Given the description of an element on the screen output the (x, y) to click on. 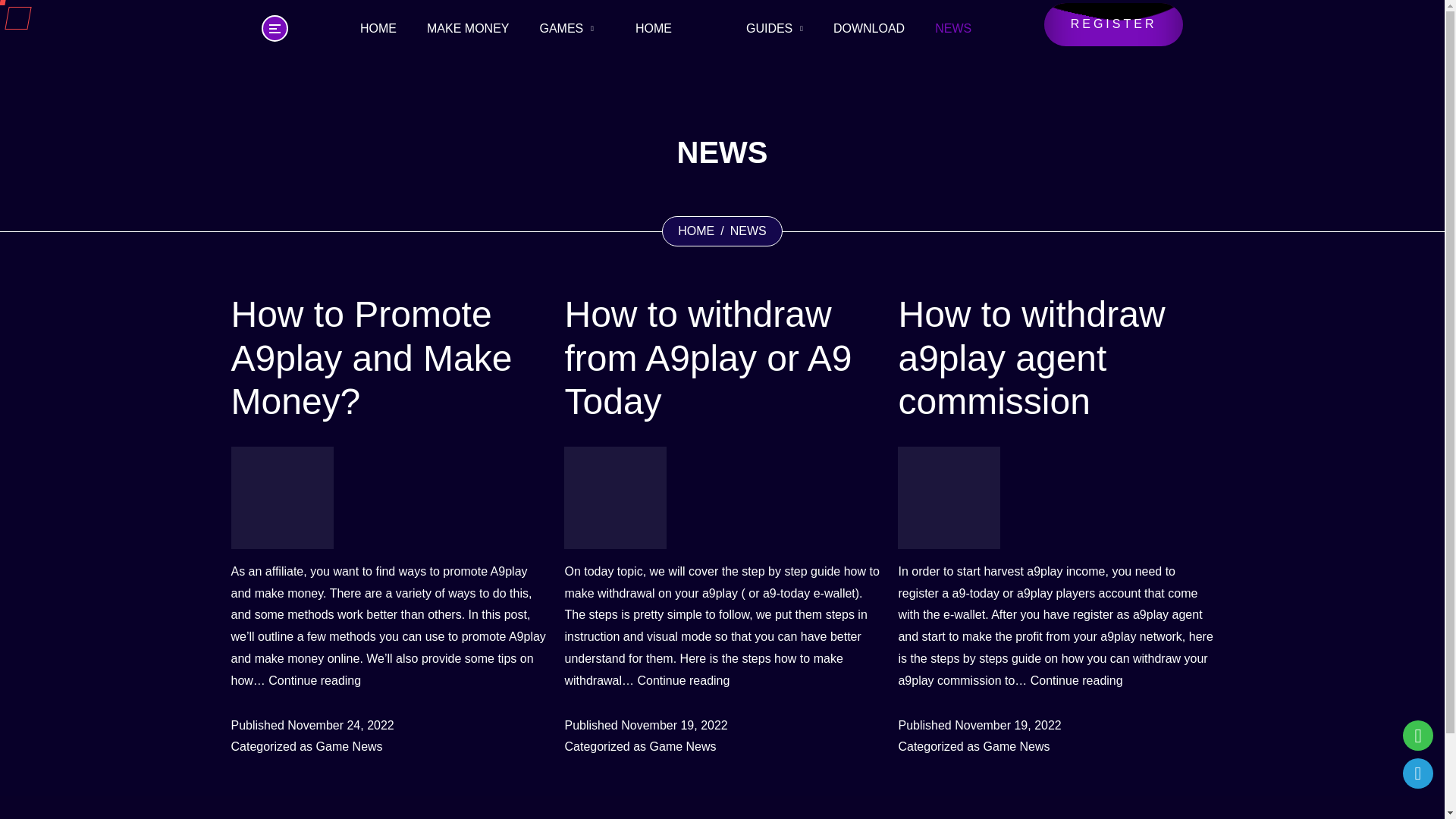
MAKE MONEY (468, 28)
How to withdraw from A9play or A9 Today (721, 358)
Game News (682, 747)
HOME (696, 231)
How to withdraw a9play agent commission (1055, 358)
Game News (1016, 747)
Game News (348, 747)
HOME (669, 28)
How to Promote A9play and Make Money? (388, 358)
GAMES (566, 28)
